Given the description of an element on the screen output the (x, y) to click on. 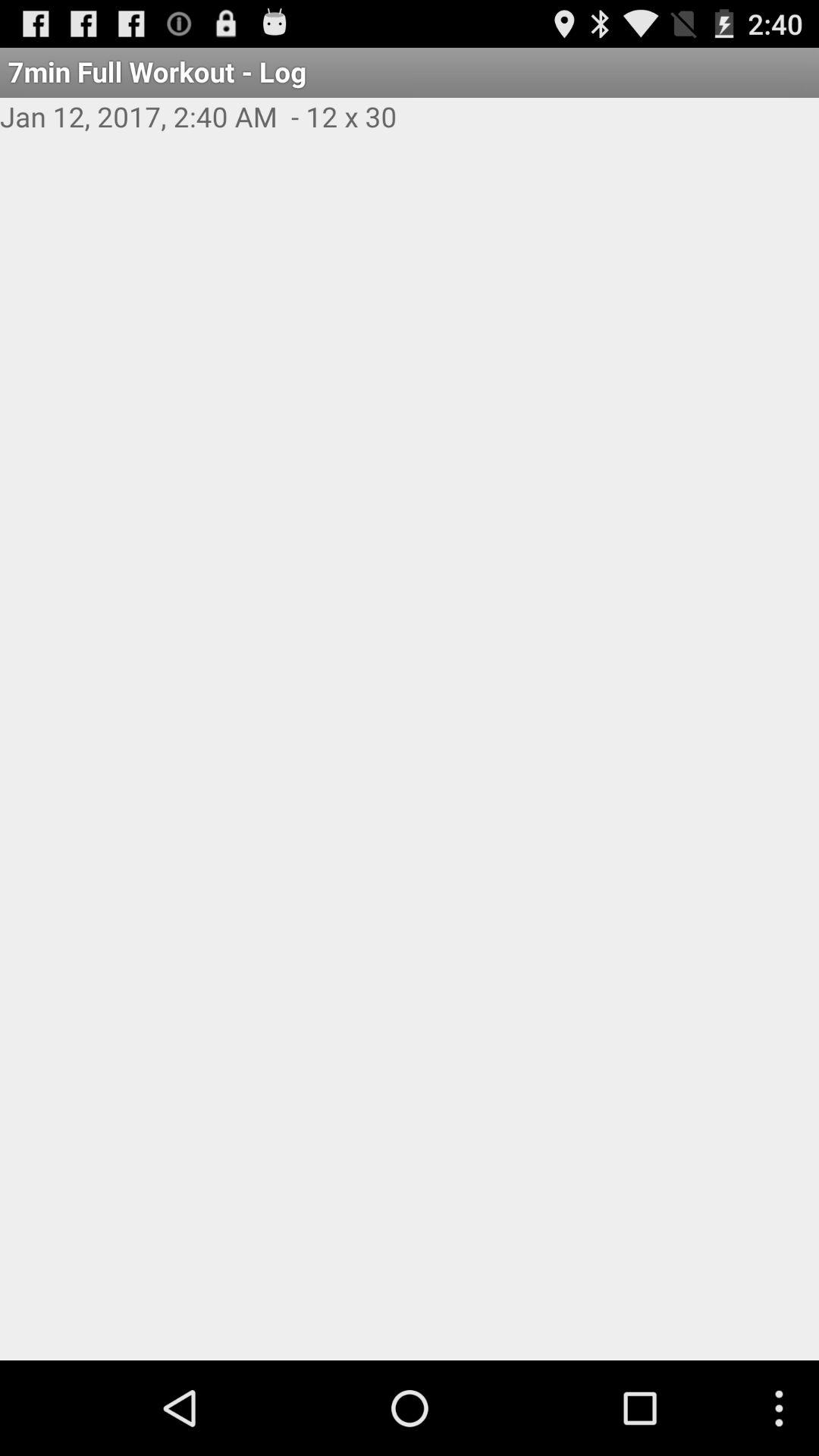
launch icon below the 7min full workout (409, 132)
